Given the description of an element on the screen output the (x, y) to click on. 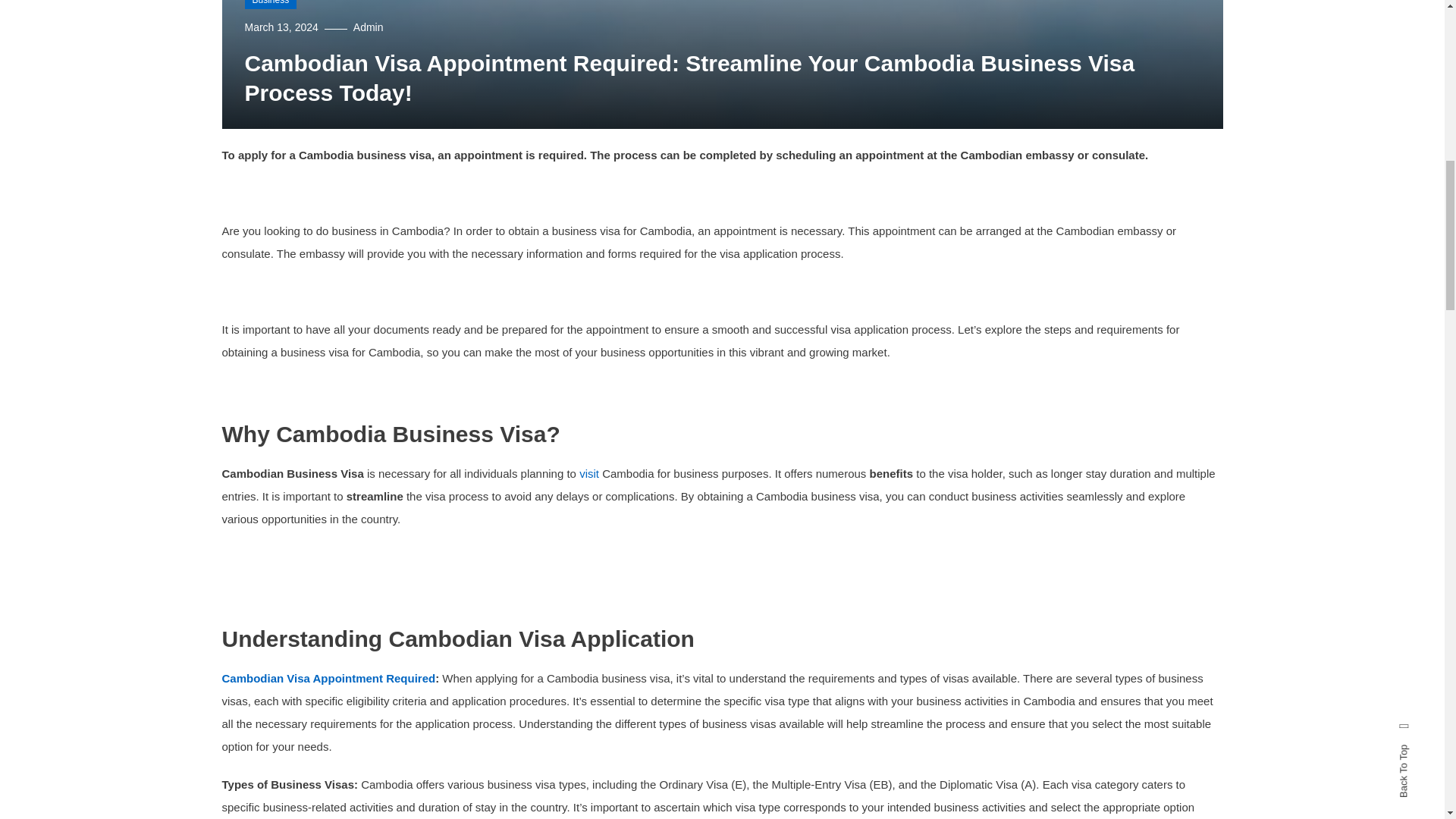
Business (270, 4)
Admin (368, 27)
Cambodian Visa Appointment Required (328, 677)
March 13, 2024 (280, 27)
visit (588, 472)
